Given the description of an element on the screen output the (x, y) to click on. 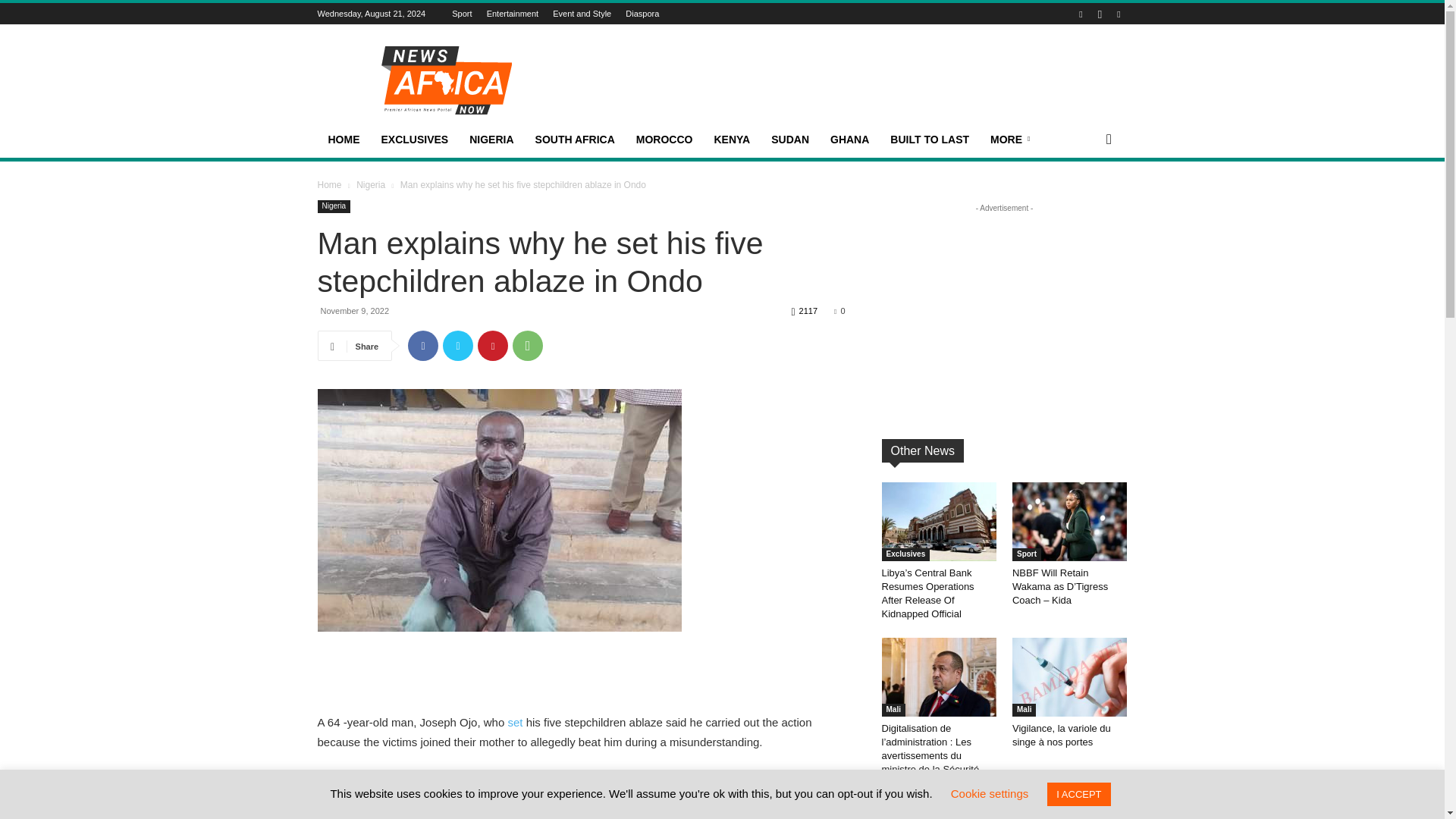
Advertisement (580, 673)
Entertainment (512, 13)
Sport (461, 13)
Diaspora (642, 13)
Pinterest (492, 345)
Event and Style (582, 13)
EXCLUSIVES (413, 139)
MOROCCO (664, 139)
NIGERIA (491, 139)
HOME (343, 139)
